Given the description of an element on the screen output the (x, y) to click on. 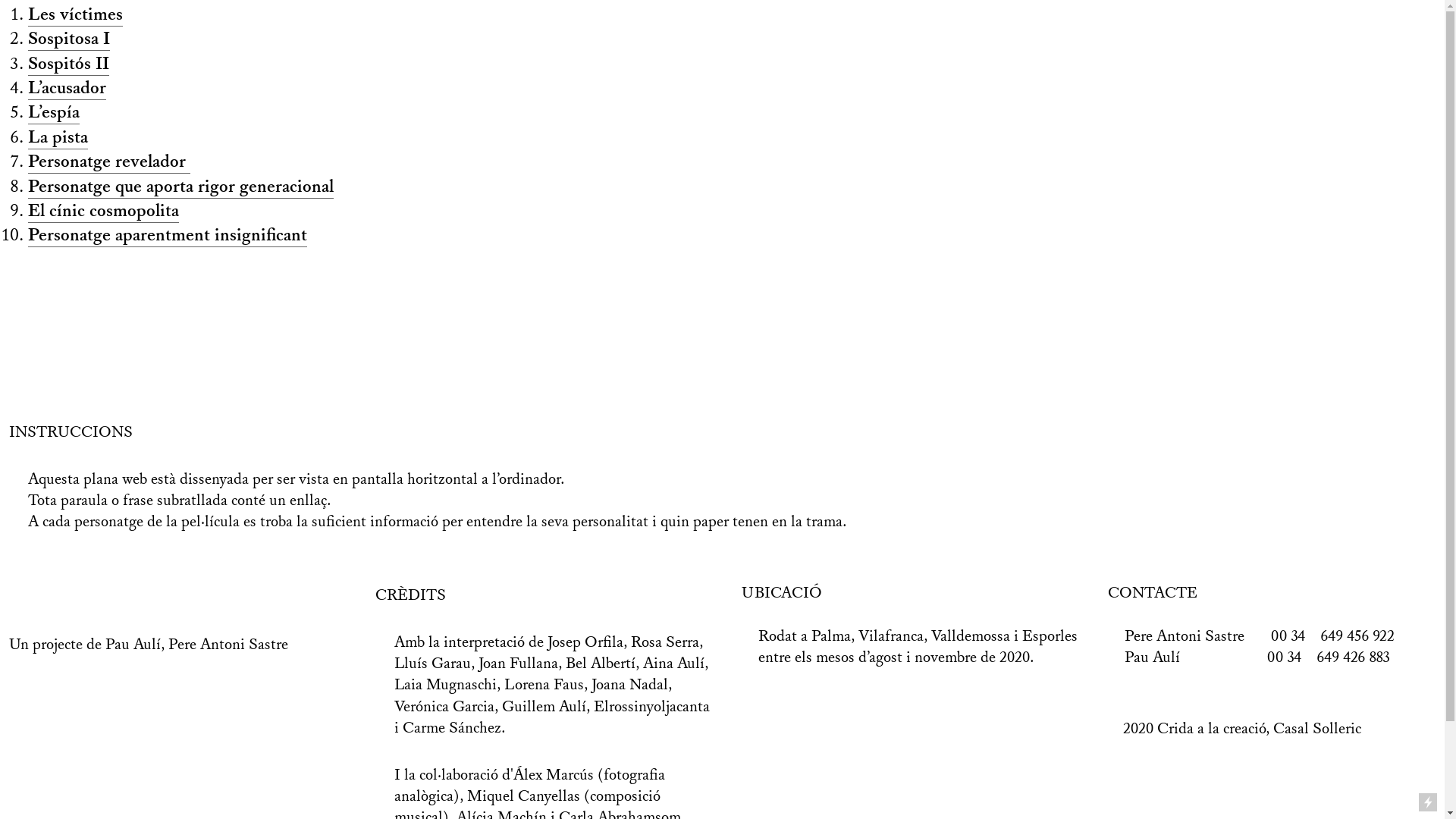
Personatge que aporta rigor generacional Element type: text (180, 186)
La pista Element type: text (57, 137)
Les Element type: text (41, 14)
Personatge revelador  Element type: text (109, 161)
Personatge aparentment insignificant Element type: text (167, 235)
Sospitosa I Element type: text (68, 38)
